Given the description of an element on the screen output the (x, y) to click on. 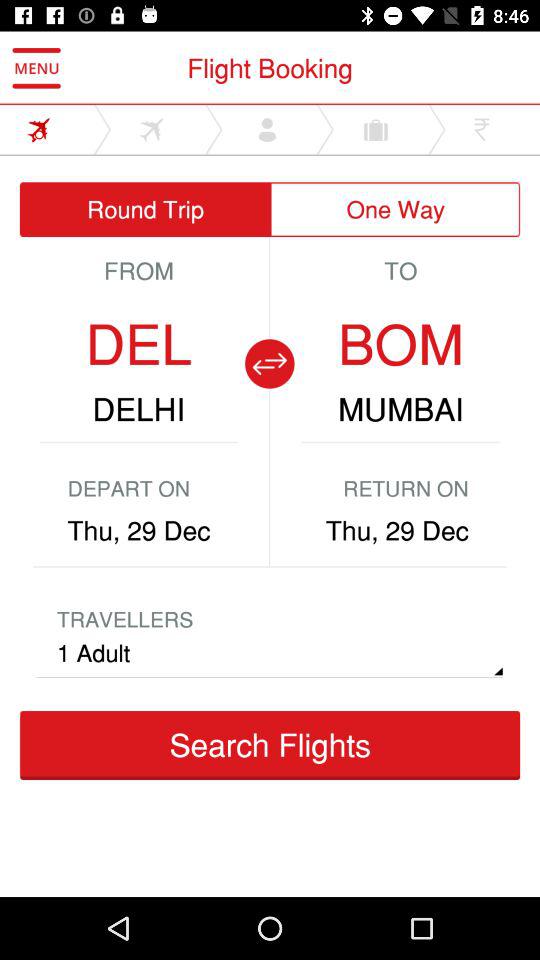
select search flights icon (269, 745)
